Given the description of an element on the screen output the (x, y) to click on. 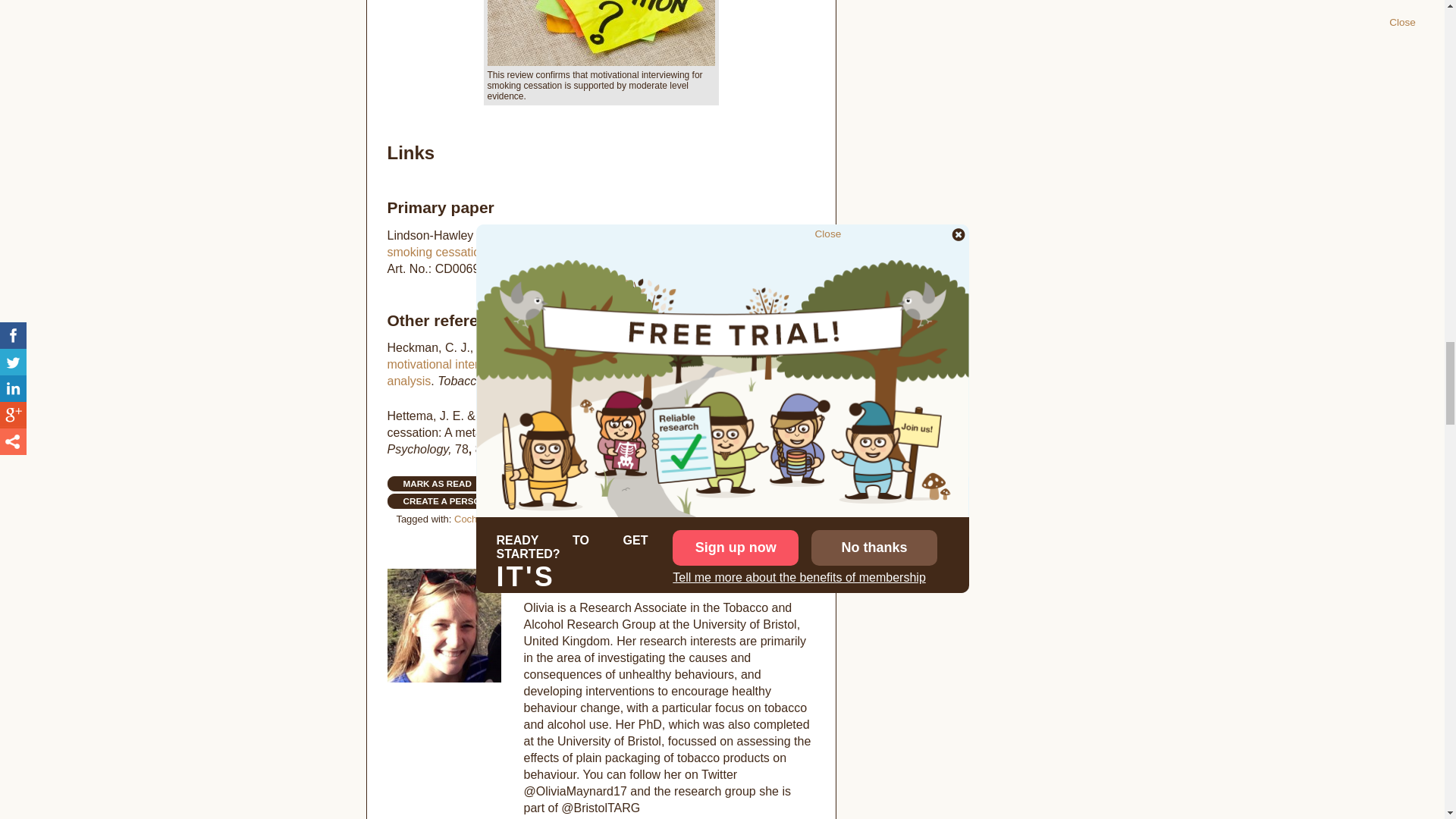
Tweet this on Twitter (730, 480)
Share via email (801, 480)
Share on Facebook (705, 480)
Share on LinkedIn (753, 480)
